Given the description of an element on the screen output the (x, y) to click on. 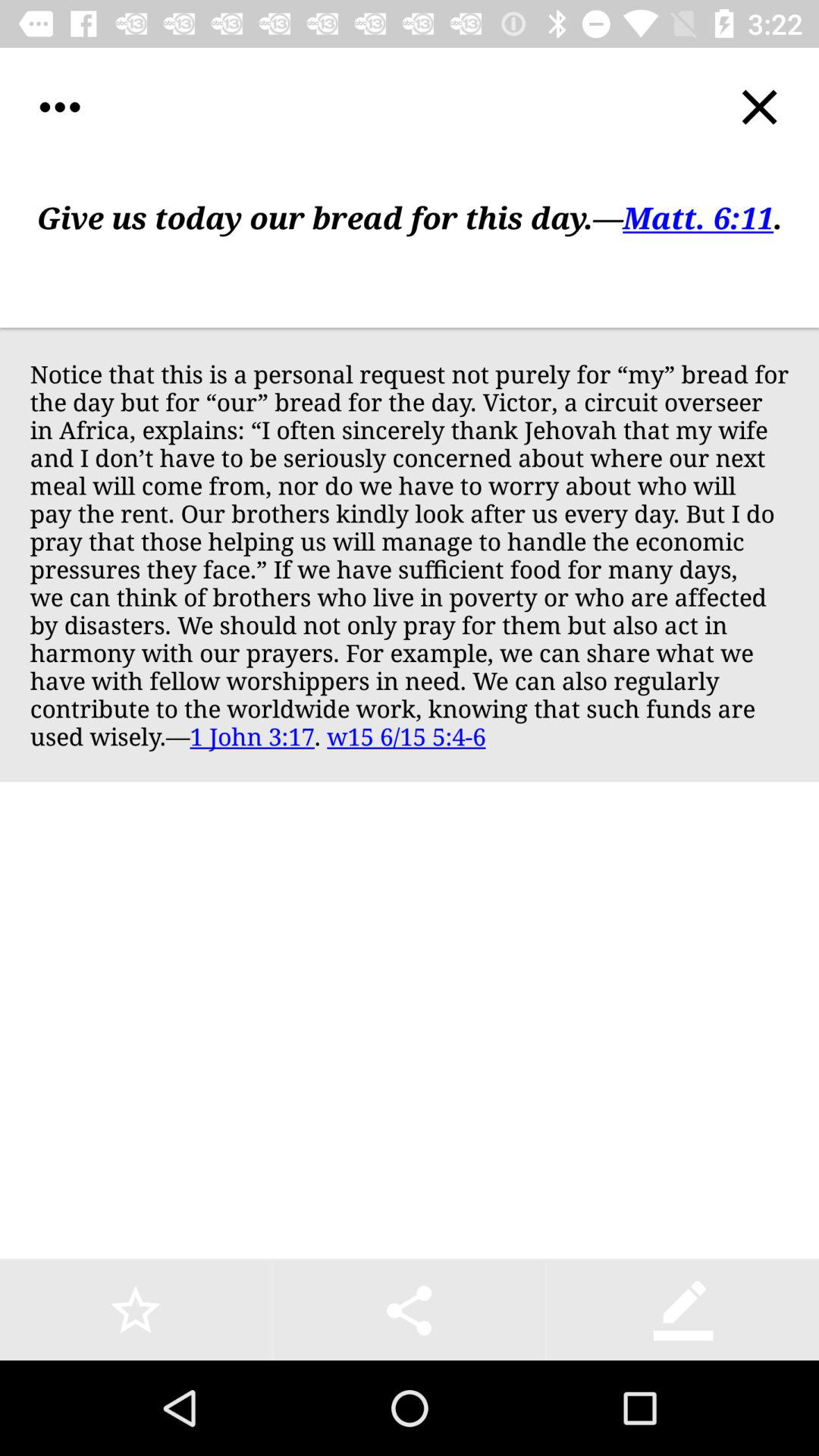
launch the app at the center (409, 554)
